Given the description of an element on the screen output the (x, y) to click on. 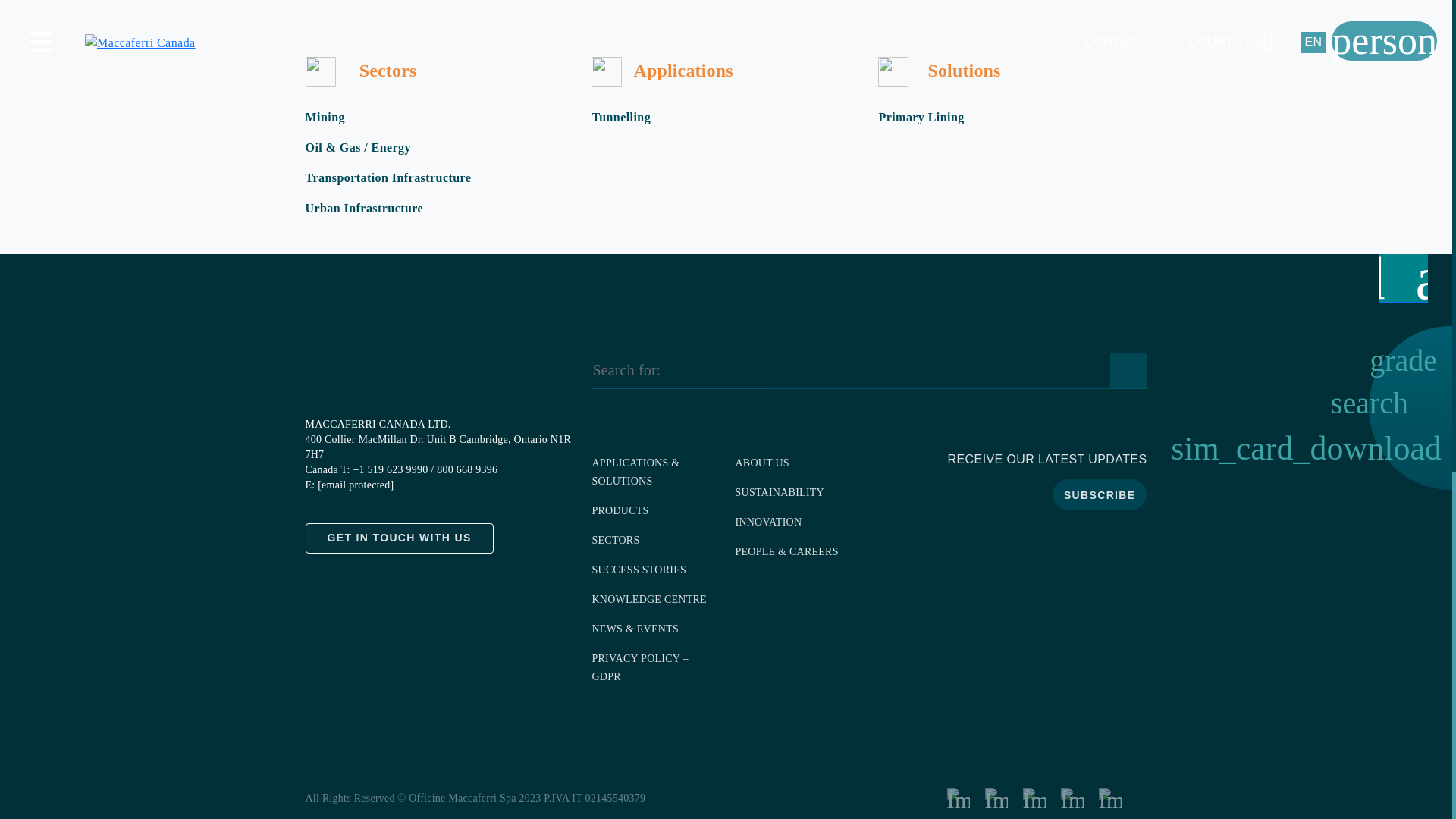
Tunnelling (620, 117)
Search (1128, 370)
Search (1128, 370)
Transportation Infrastructure (387, 178)
Mining (323, 117)
Urban Infrastructure (363, 208)
Primary Lining (920, 117)
